Given the description of an element on the screen output the (x, y) to click on. 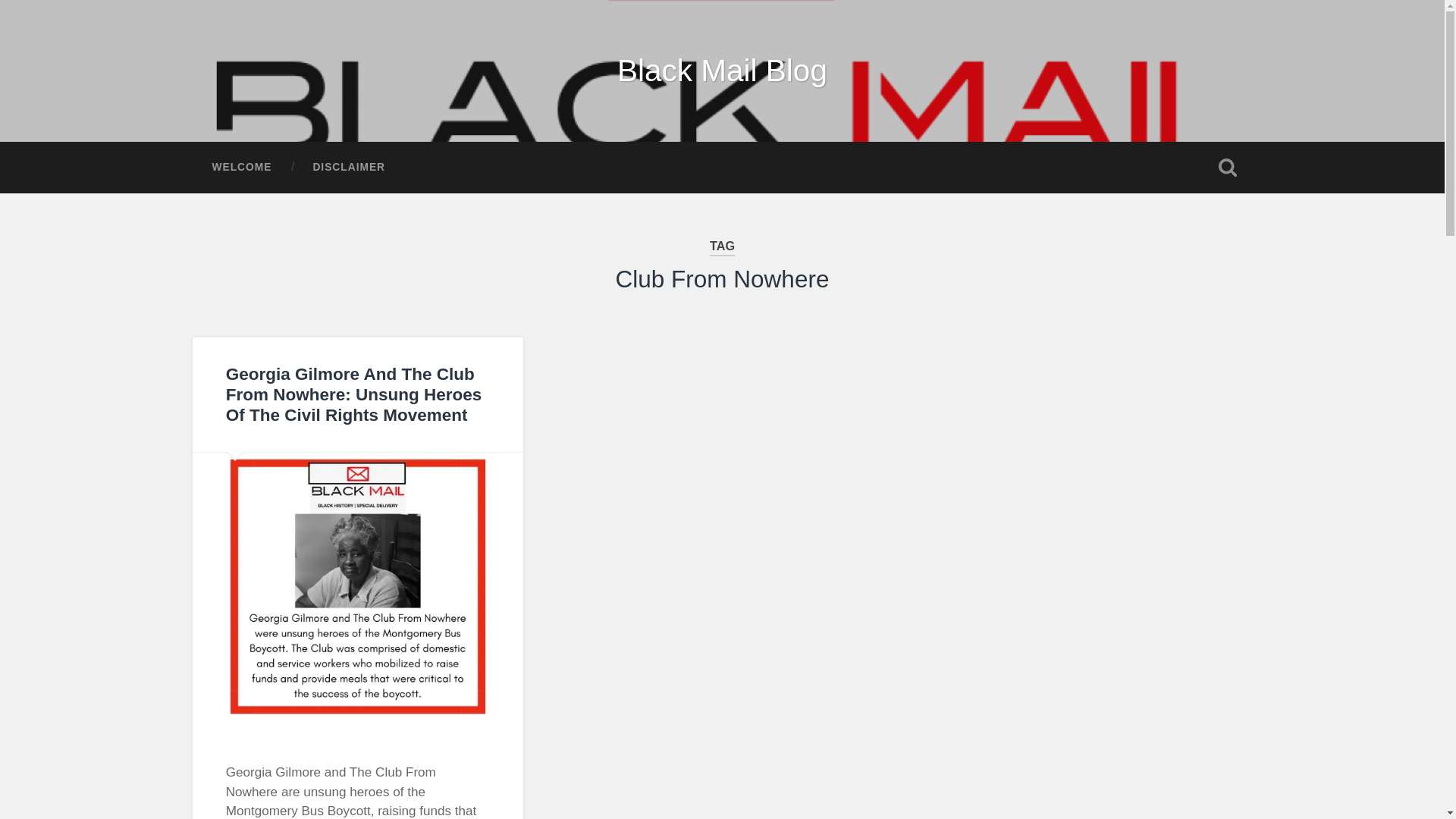
WELCOME (241, 167)
Black Mail Blog (722, 70)
DISCLAIMER (349, 167)
